Given the description of an element on the screen output the (x, y) to click on. 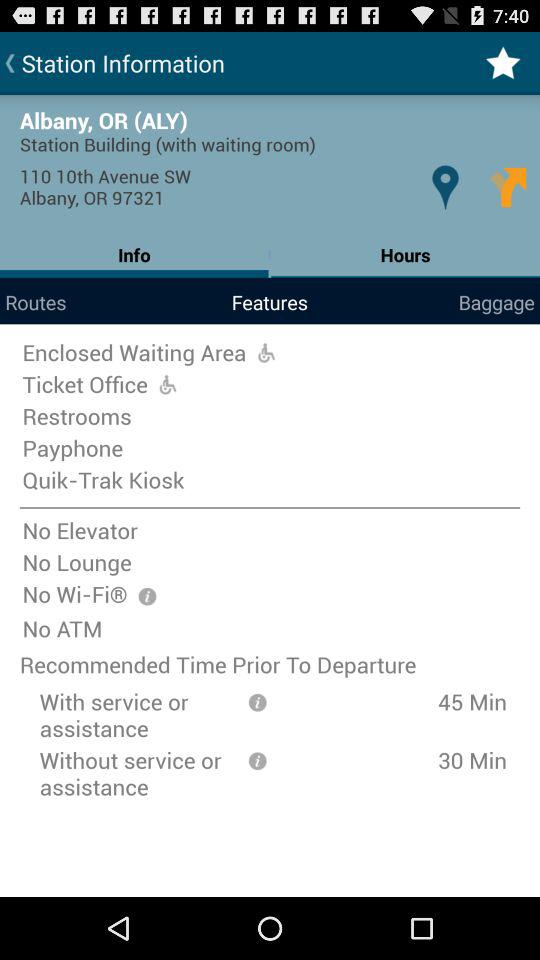
choose item below station building with icon (444, 186)
